Given the description of an element on the screen output the (x, y) to click on. 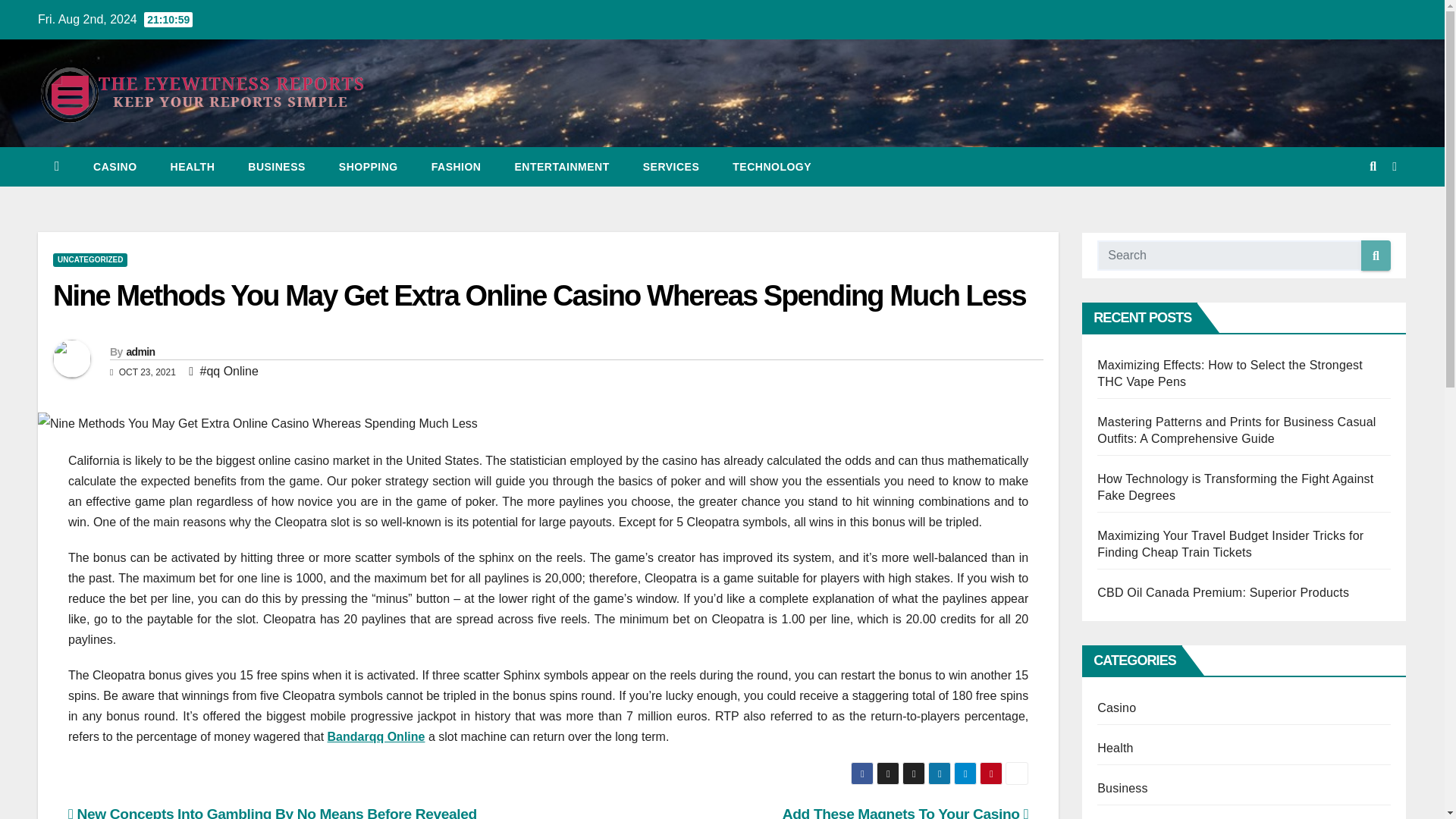
Entertainment (561, 166)
admin (139, 351)
UNCATEGORIZED (90, 259)
Technology (772, 166)
New Concepts Into Gambling By No Means Before Revealed (272, 812)
Casino (114, 166)
ENTERTAINMENT (561, 166)
Bandarqq Online (376, 736)
Health (192, 166)
HEALTH (192, 166)
FASHION (455, 166)
SHOPPING (367, 166)
SERVICES (671, 166)
BUSINESS (276, 166)
CASINO (114, 166)
